Given the description of an element on the screen output the (x, y) to click on. 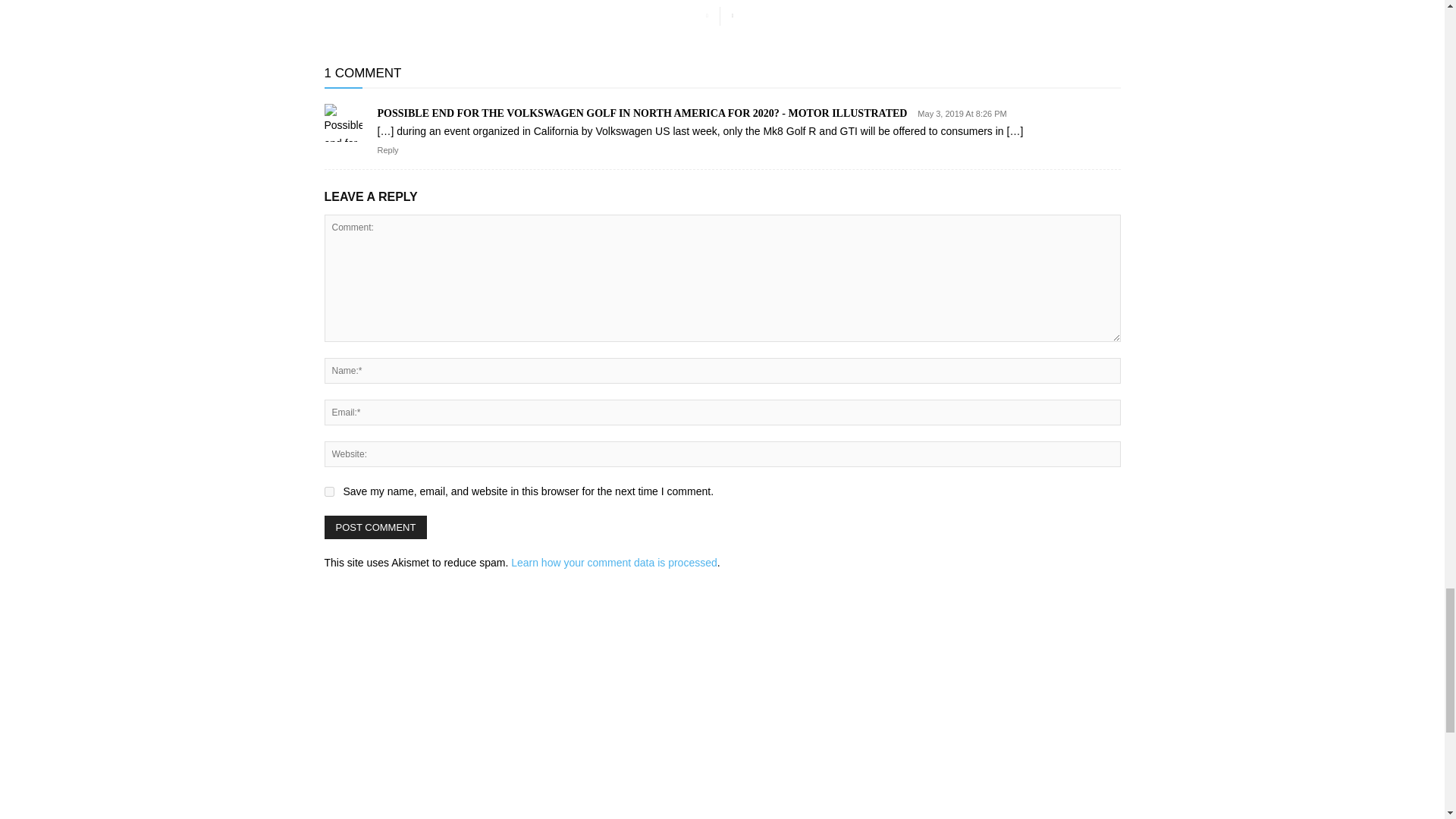
Post Comment (376, 526)
yes (329, 491)
